Given the description of an element on the screen output the (x, y) to click on. 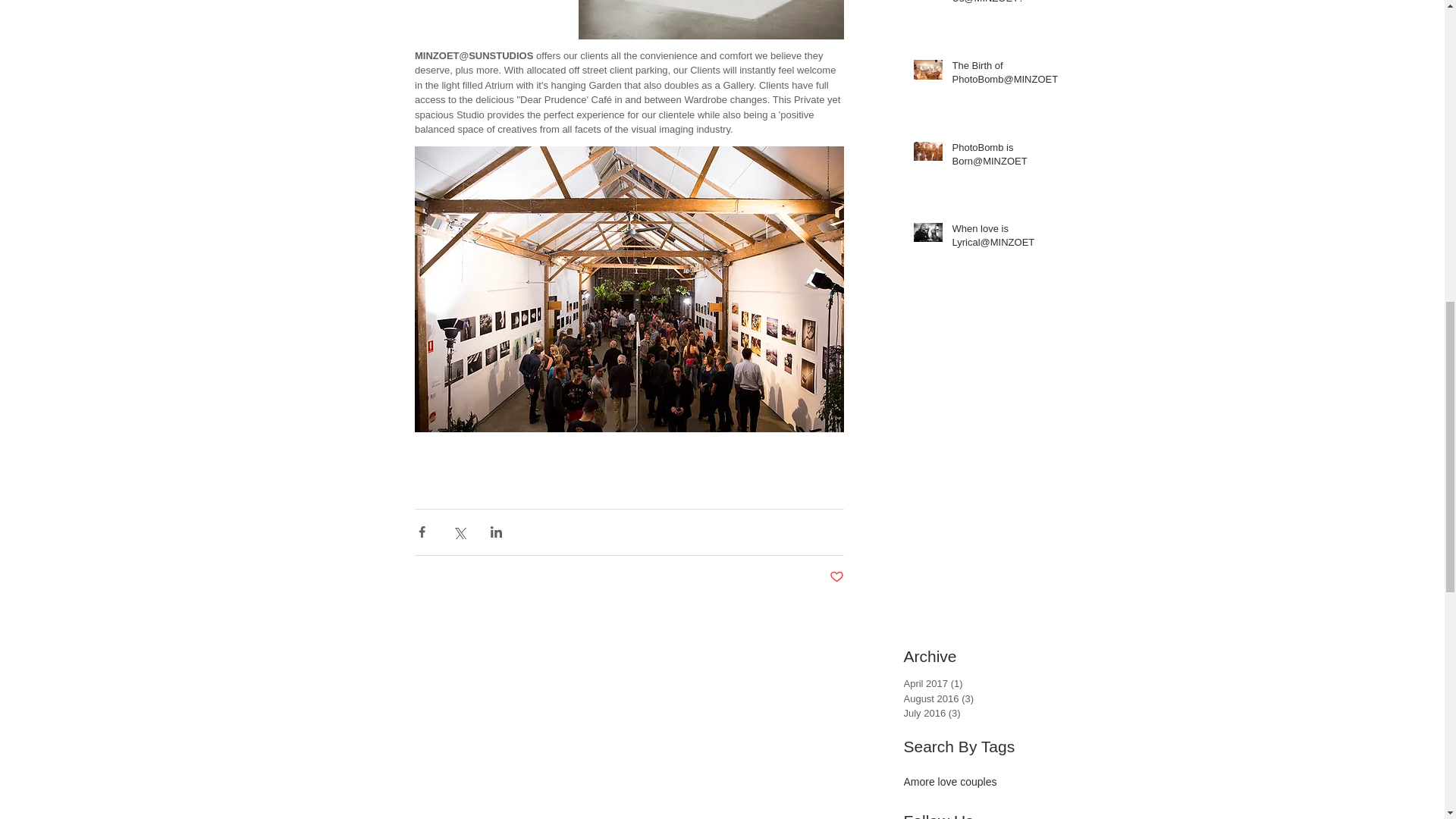
Amore love couples (950, 781)
Post not marked as liked (836, 577)
